Given the description of an element on the screen output the (x, y) to click on. 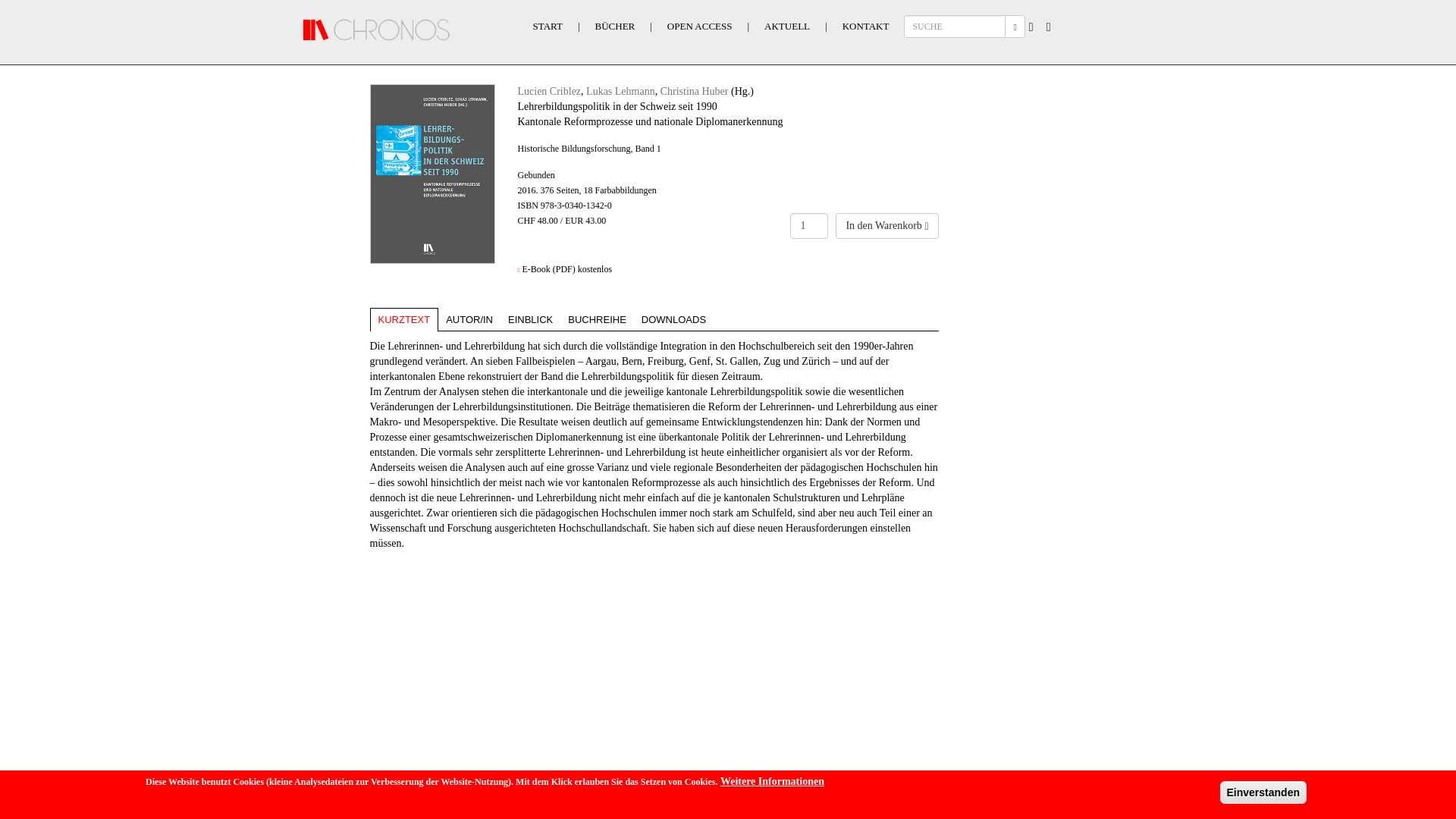
Geben Sie die Begriffe ein, nach denen Sie suchen. Element type: hover (954, 26)
Christina Huber Element type: text (694, 91)
Lehrerbildungspolitik in der Schweiz seit 1990 Element type: hover (432, 173)
Suche Element type: text (1047, 31)
START Element type: text (547, 26)
KONTAKT Element type: text (865, 26)
Weitere Informationen Element type: text (772, 781)
Start Element type: hover (376, 30)
Lukas Lehmann Element type: text (620, 91)
AKTUELL Element type: text (786, 26)
In den Warenkorb Element type: text (886, 225)
E-Book (PDF) kostenlos Element type: text (566, 268)
OPEN ACCESS Element type: text (699, 26)
Direkt zum Inhalt Element type: text (37, 0)
Einverstanden Element type: text (1263, 792)
Lucien Criblez Element type: text (548, 91)
